Given the description of an element on the screen output the (x, y) to click on. 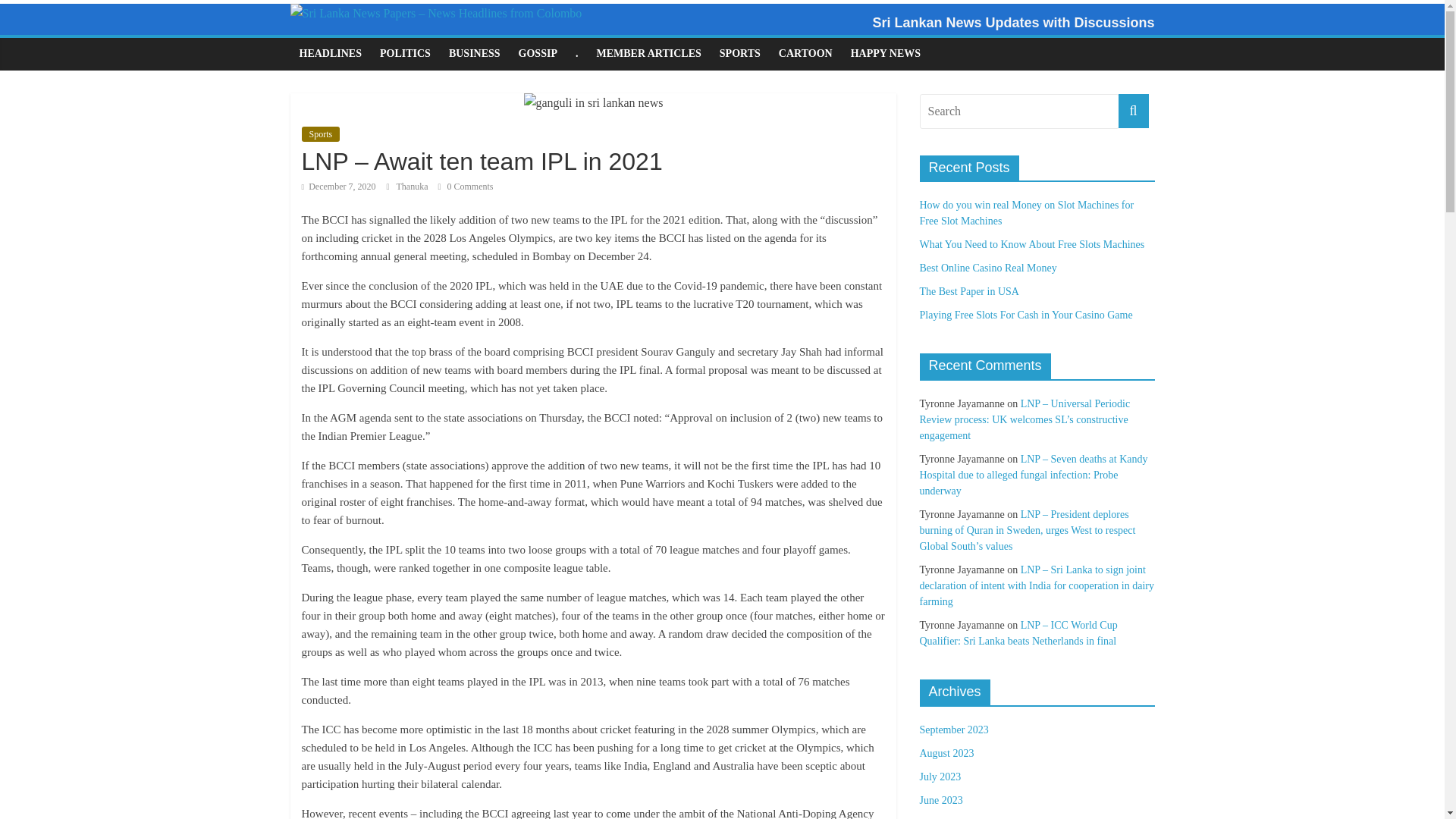
December 7, 2020 (338, 185)
What You Need to Know About Free Slots Machines (1031, 244)
GOSSIP (537, 53)
Playing Free Slots For Cash in Your Casino Game (1025, 315)
August 2023 (946, 753)
The Best Paper in USA (967, 291)
LNP - Await ten team IPL in 2021 1 - In Sri Lanka (592, 103)
0 Comments (465, 185)
3:39 am (338, 185)
